Given the description of an element on the screen output the (x, y) to click on. 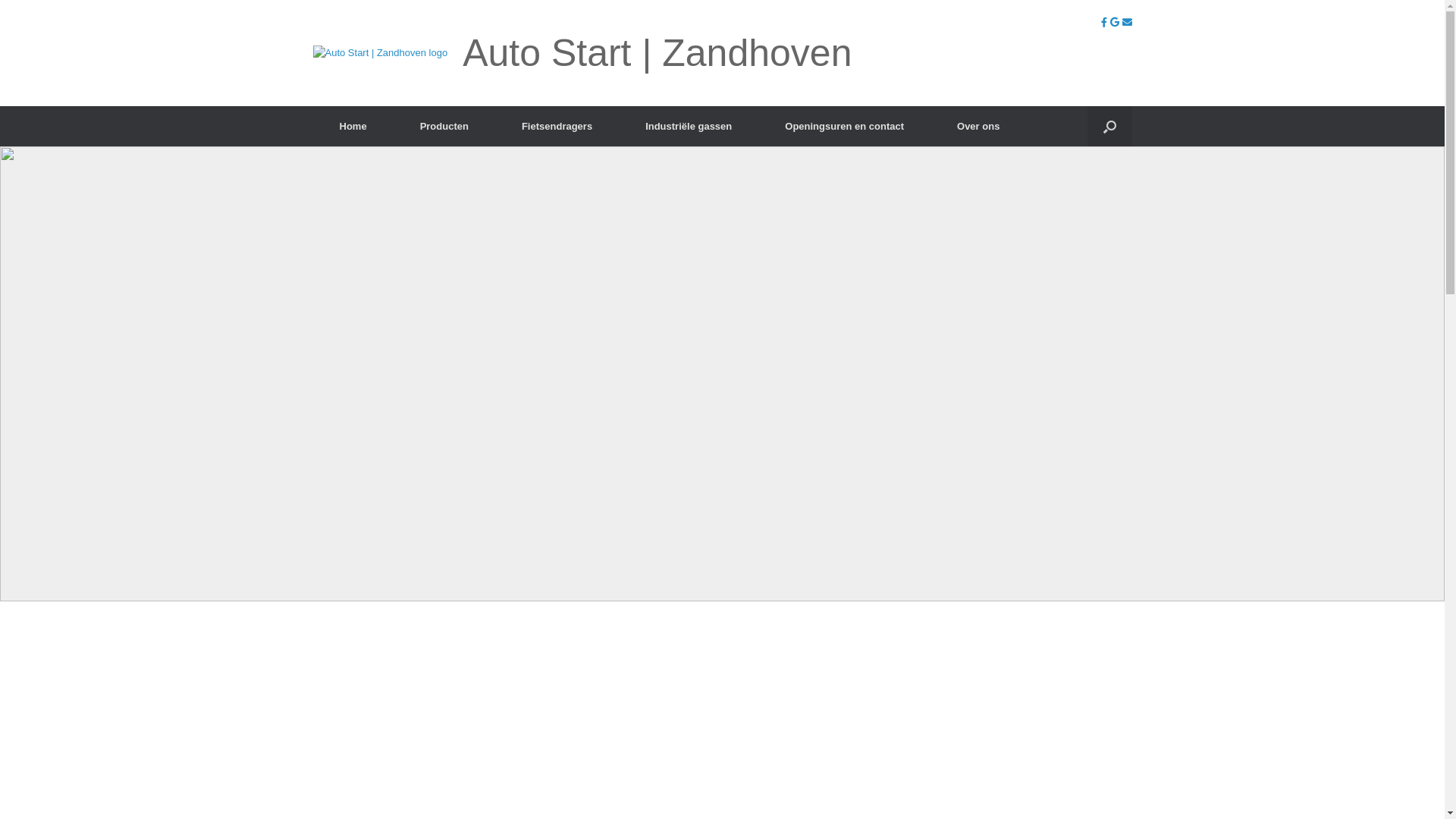
Fietsendragers Element type: text (556, 126)
Auto Start | Zandhoven Element type: text (581, 53)
Email Auto Start | Zandhoven Element type: hover (1127, 22)
Auto Start | Zandhoven op Google Element type: hover (1116, 22)
Producten Element type: text (444, 126)
Home Element type: text (352, 126)
Facebook Element type: hover (1105, 22)
Over ons Element type: text (978, 126)
Openingsuren en contact Element type: text (844, 126)
